Given the description of an element on the screen output the (x, y) to click on. 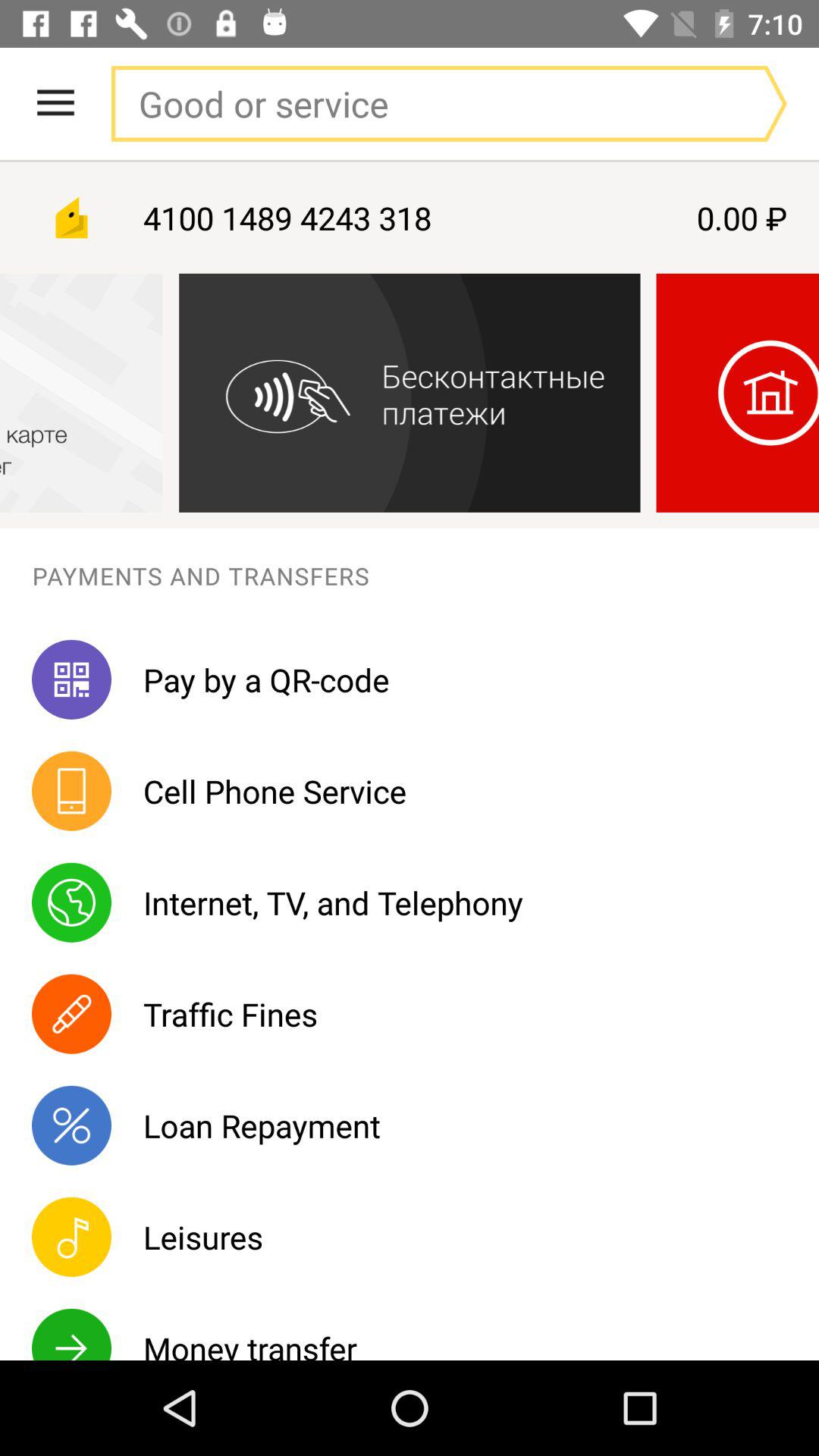
serch for good or service (417, 103)
